Given the description of an element on the screen output the (x, y) to click on. 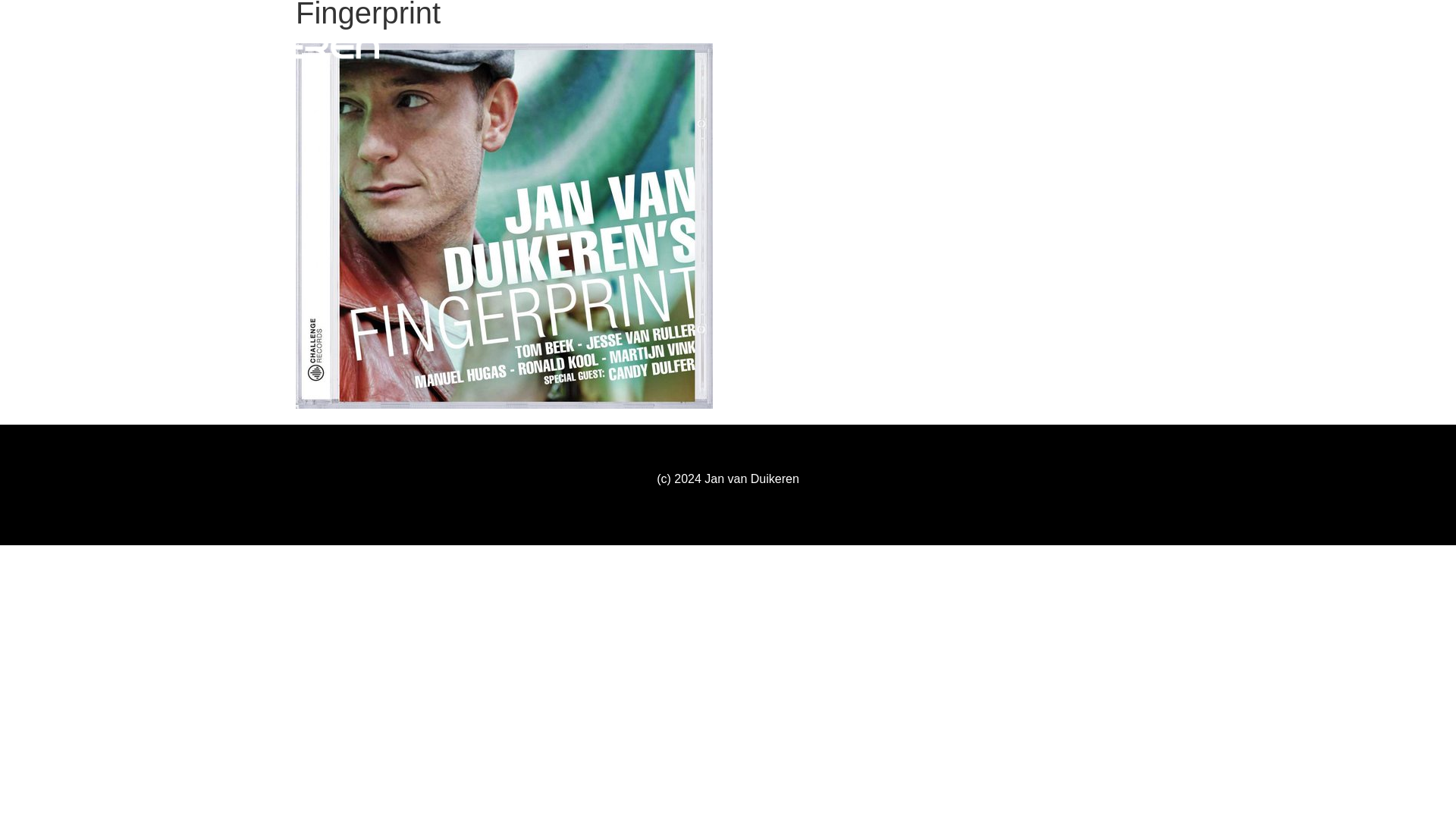
HOME (1072, 46)
STUDIO (1174, 46)
CONTACT (1361, 46)
DISCOGRAPHY (1265, 46)
BIO (1121, 46)
